Given the description of an element on the screen output the (x, y) to click on. 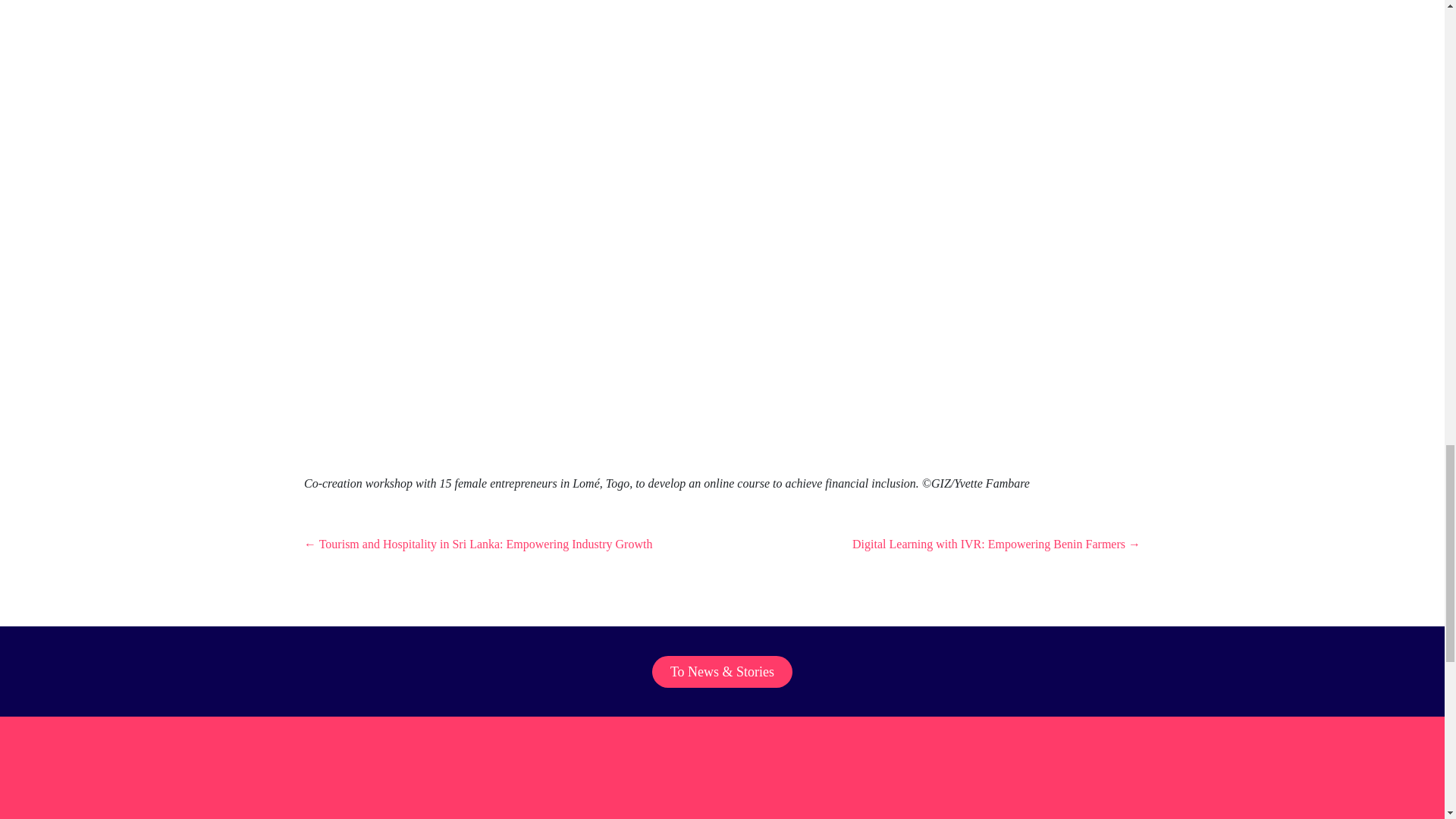
white-atingi-logo (95, 796)
